Given the description of an element on the screen output the (x, y) to click on. 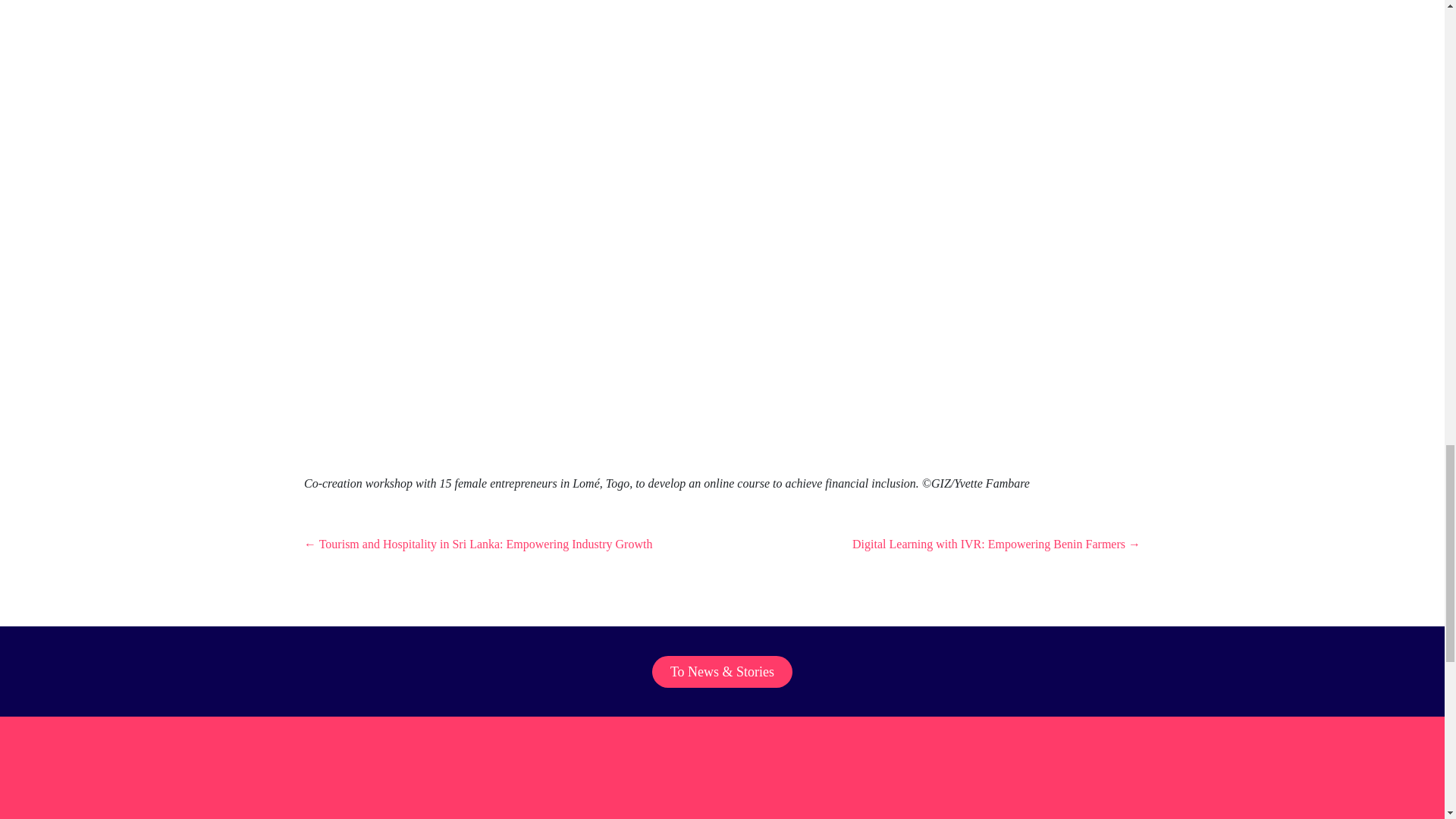
white-atingi-logo (95, 796)
